Given the description of an element on the screen output the (x, y) to click on. 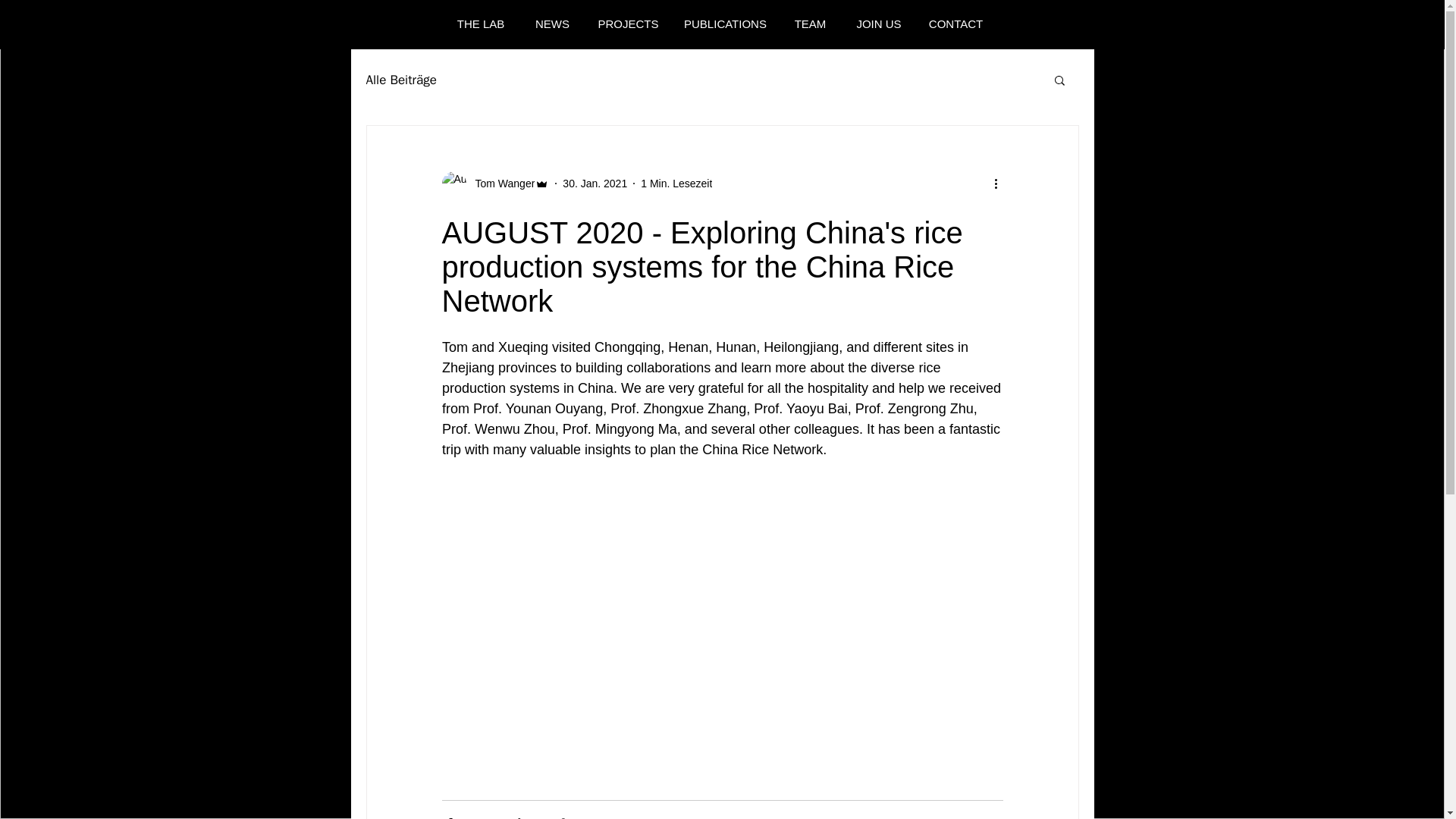
1 Min. Lesezeit (675, 183)
THE LAB (480, 24)
PROJECTS (628, 24)
JOIN US (879, 24)
NEWS (552, 24)
30. Jan. 2021 (594, 183)
TEAM (809, 24)
PUBLICATIONS (724, 24)
CONTACT (954, 24)
Tom Wanger (494, 183)
Tom Wanger (499, 183)
